Given the description of an element on the screen output the (x, y) to click on. 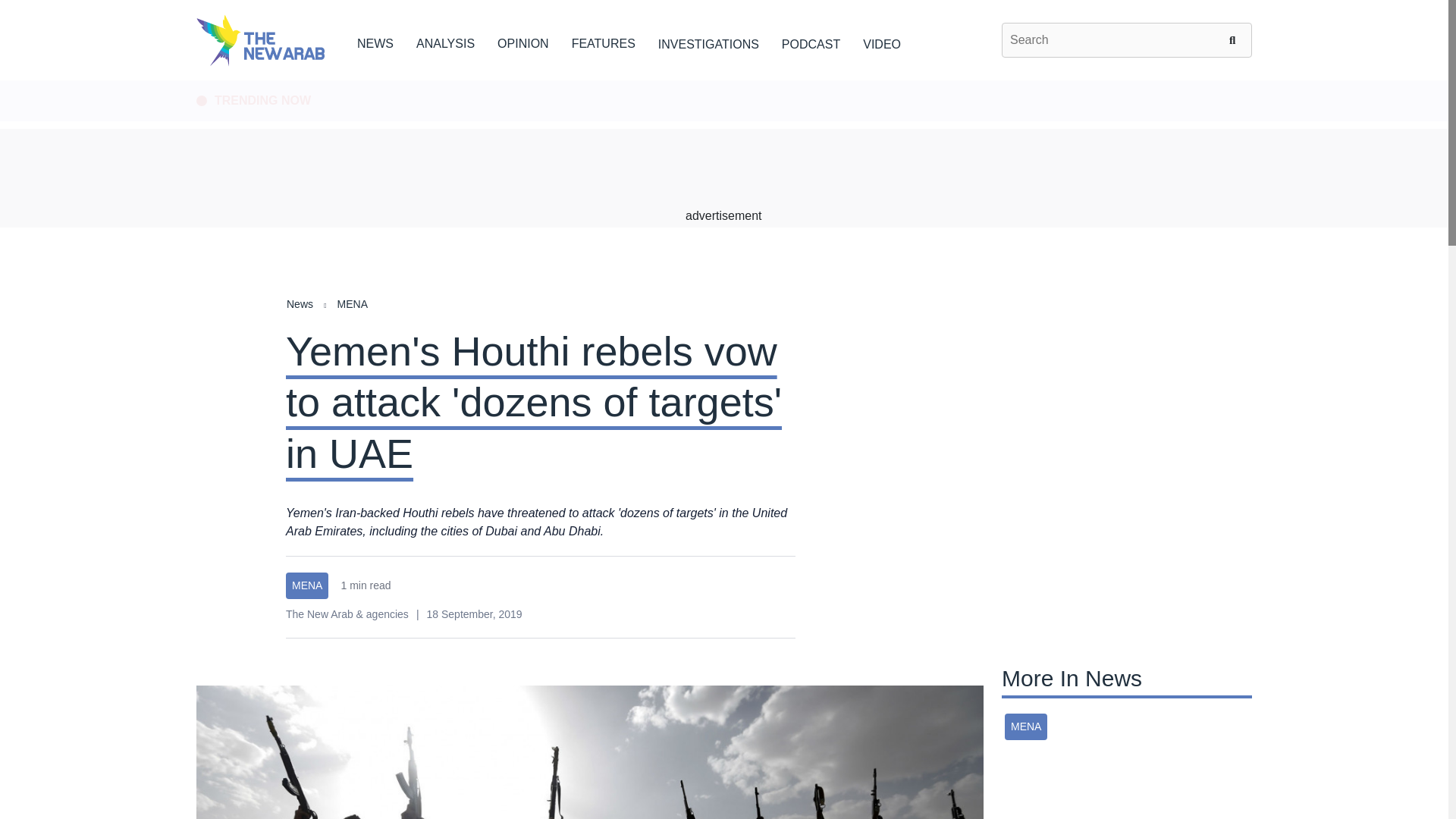
ANALYSIS (445, 41)
Search (1234, 39)
NEWS (375, 41)
Skip to main content (724, 81)
OPINION (523, 41)
